Given the description of an element on the screen output the (x, y) to click on. 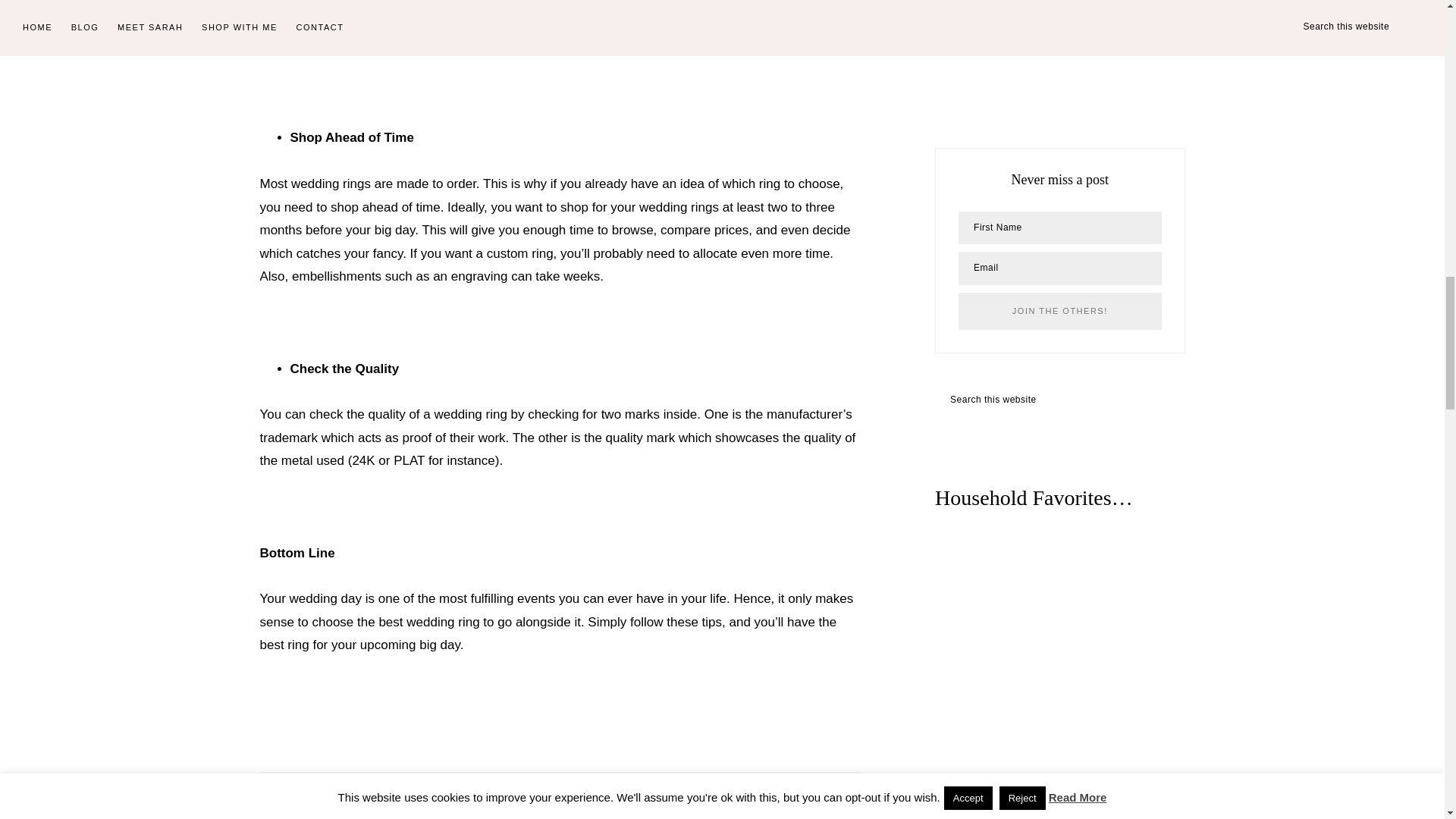
Join the Others! (1059, 311)
